Given the description of an element on the screen output the (x, y) to click on. 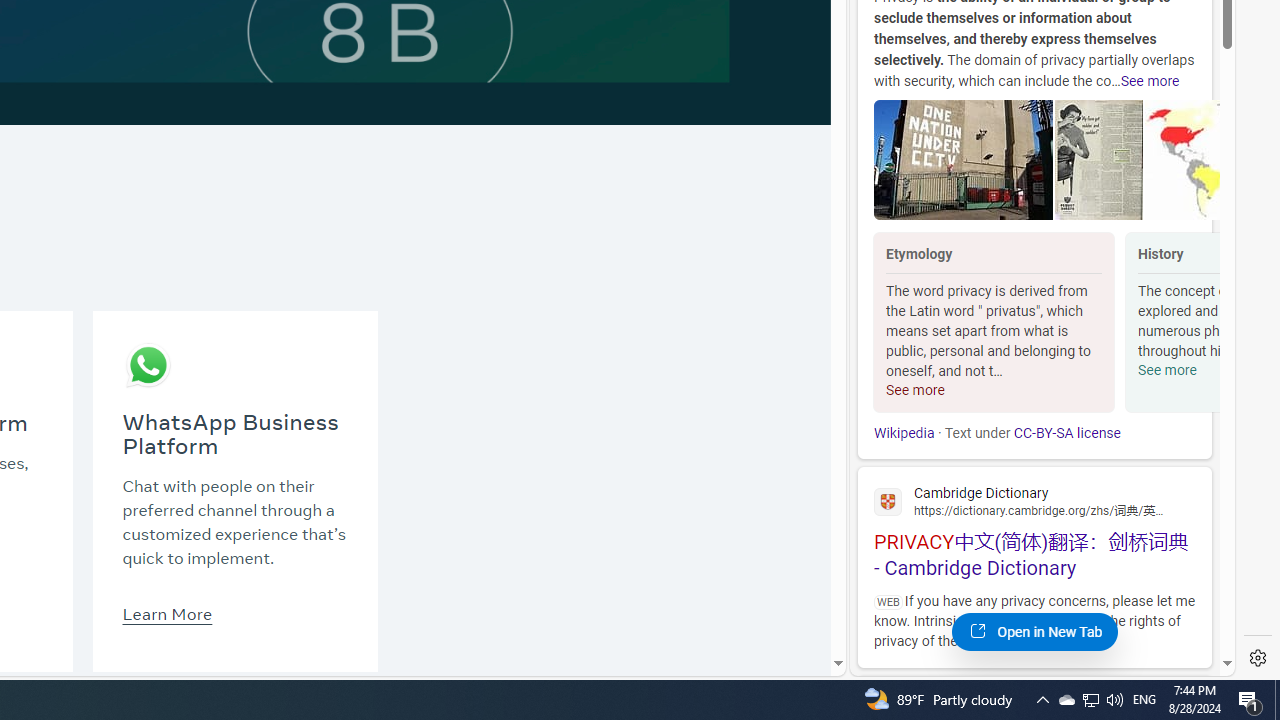
Learn More (166, 613)
CC-BY-SA license (1066, 433)
Cambridge Dictionary (1034, 500)
Click to scroll right (1196, 324)
Global web icon (888, 501)
Wikipedia (904, 433)
